Given the description of an element on the screen output the (x, y) to click on. 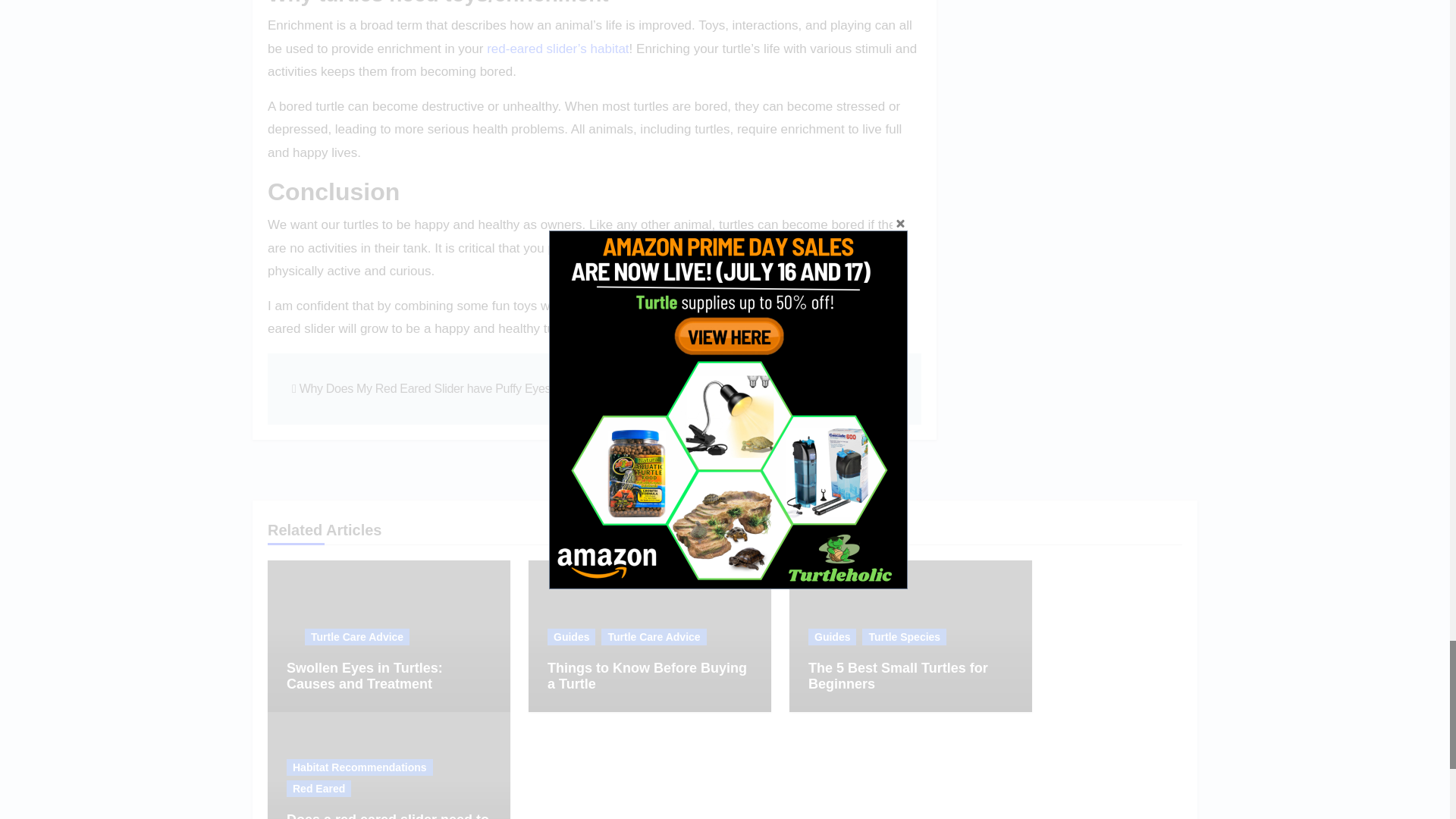
Why Does My Red Eared Slider have Puffy Eyes? (424, 388)
Permalink to: Things to Know Before Buying a Turtle (646, 676)
Permalink to: The 5 Best Small Turtles for Beginners (898, 676)
Permalink to: Does a red eared slider need to be in water? (387, 815)
Permalink to: Swollen Eyes in Turtles: Causes and Treatment (364, 676)
Do Red Eared Sliders Get Lonely? (803, 388)
